Given the description of an element on the screen output the (x, y) to click on. 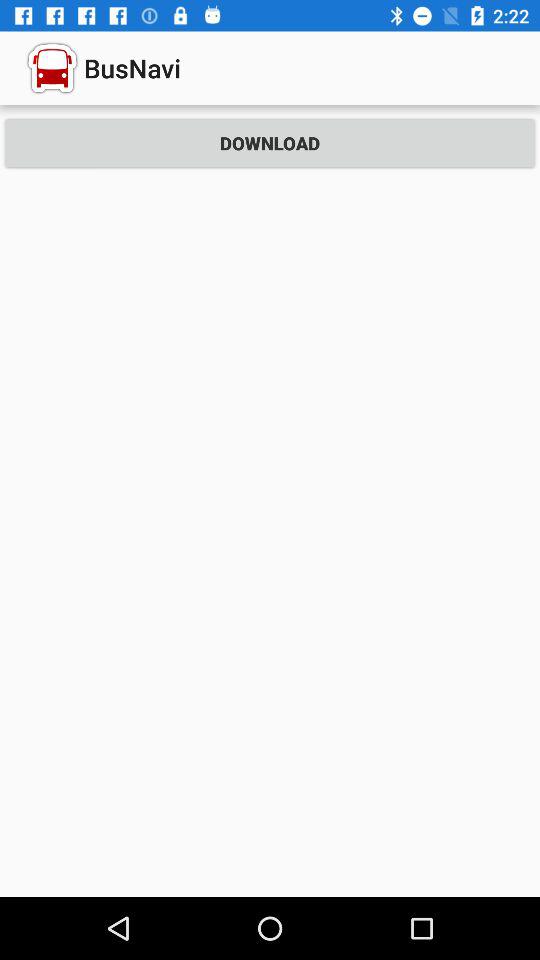
launch item below the download icon (270, 535)
